Given the description of an element on the screen output the (x, y) to click on. 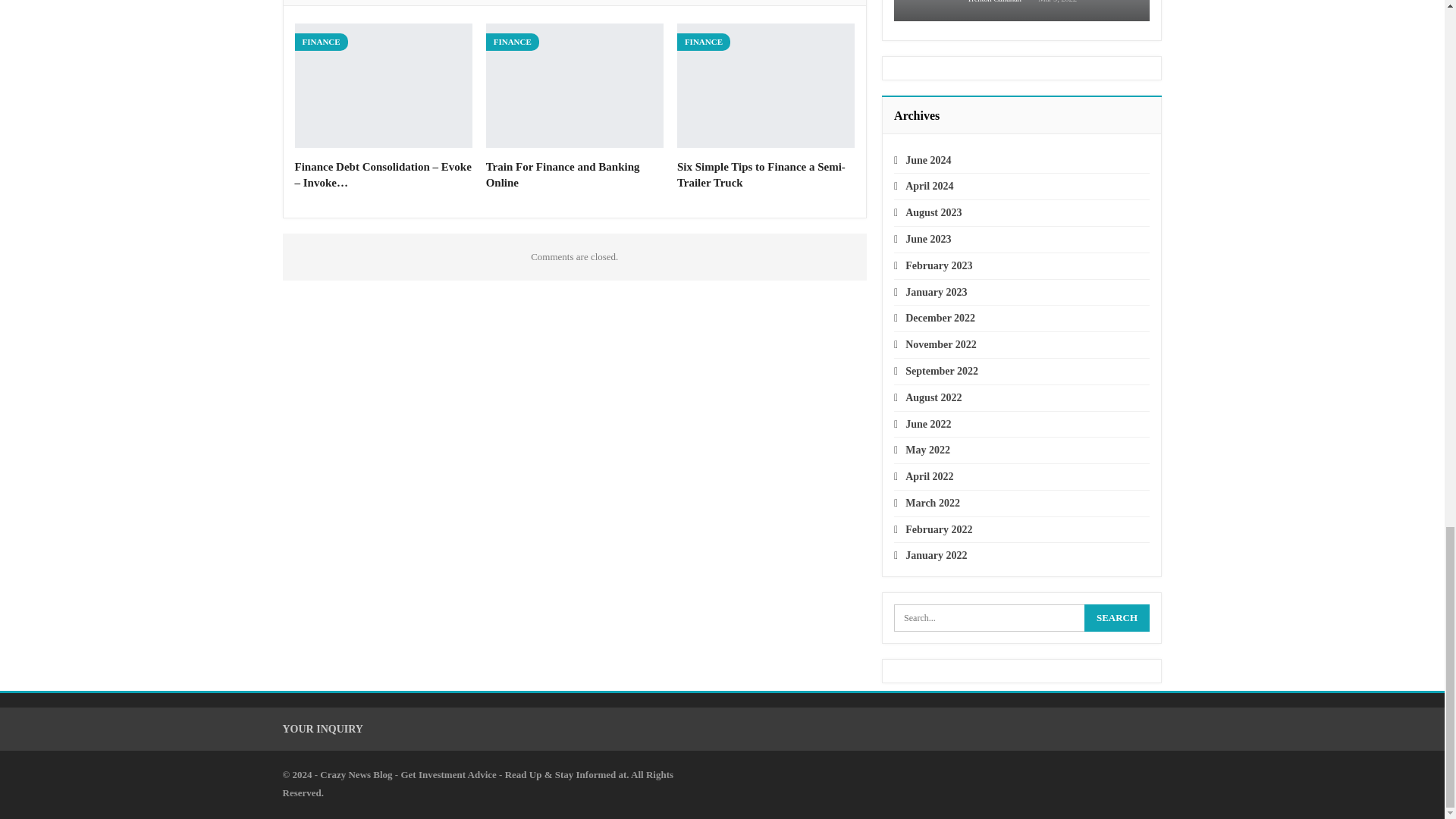
Search (1117, 617)
Train For Finance and Banking Online (563, 174)
Train For Finance and Banking Online (574, 85)
Search (1117, 617)
Six Simple Tips to Finance a Semi-Trailer Truck (761, 174)
Six Simple Tips to Finance a Semi-Trailer Truck (765, 85)
